Given the description of an element on the screen output the (x, y) to click on. 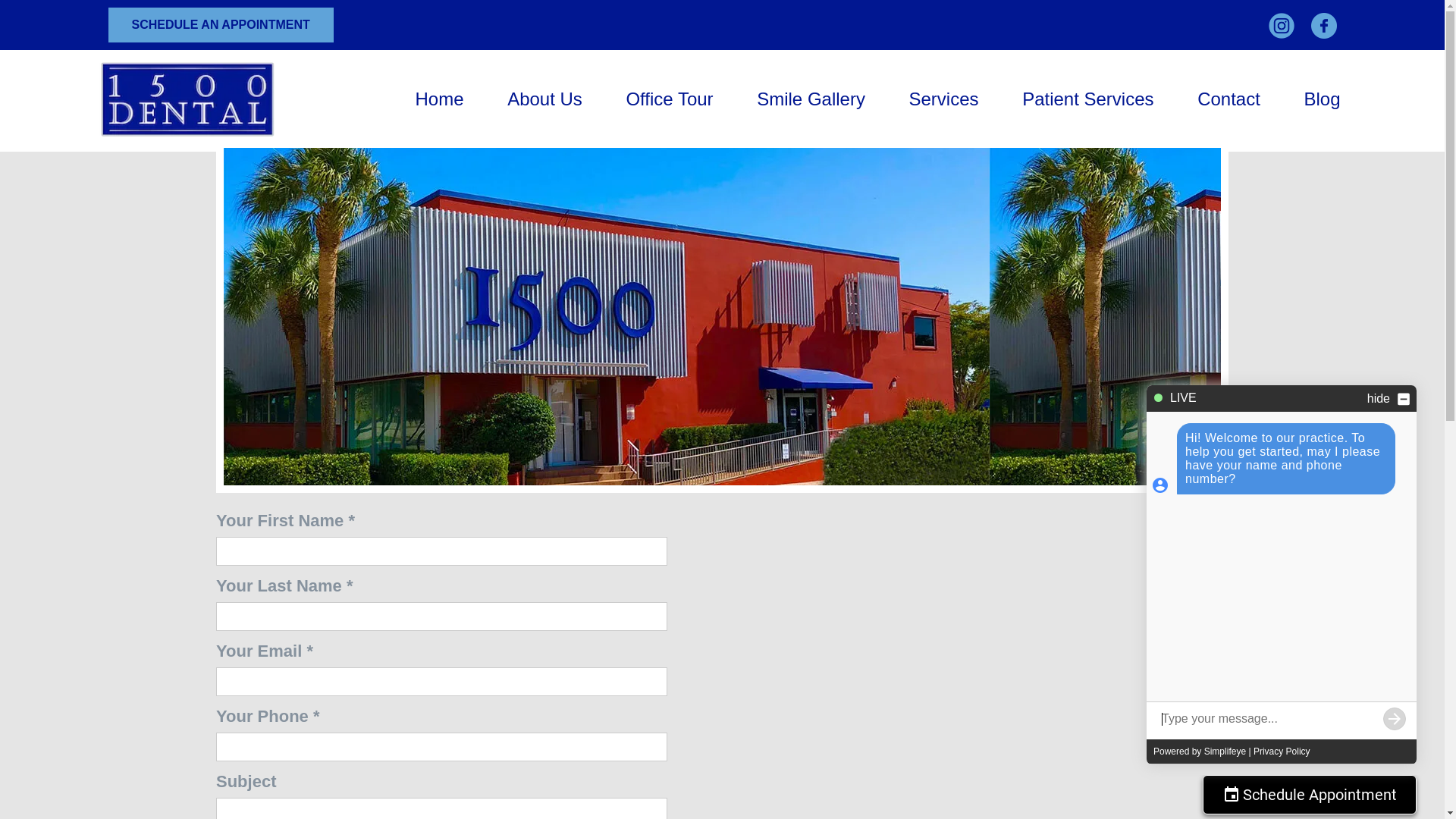
SCHEDULE AN APPOINTMENT Element type: text (219, 24)
Smile Gallery Element type: text (810, 98)
Chat window Element type: hover (1281, 574)
Office Tour Element type: text (669, 98)
Blog Element type: text (1321, 98)
About Us Element type: text (544, 98)
Home Element type: text (439, 98)
